Given the description of an element on the screen output the (x, y) to click on. 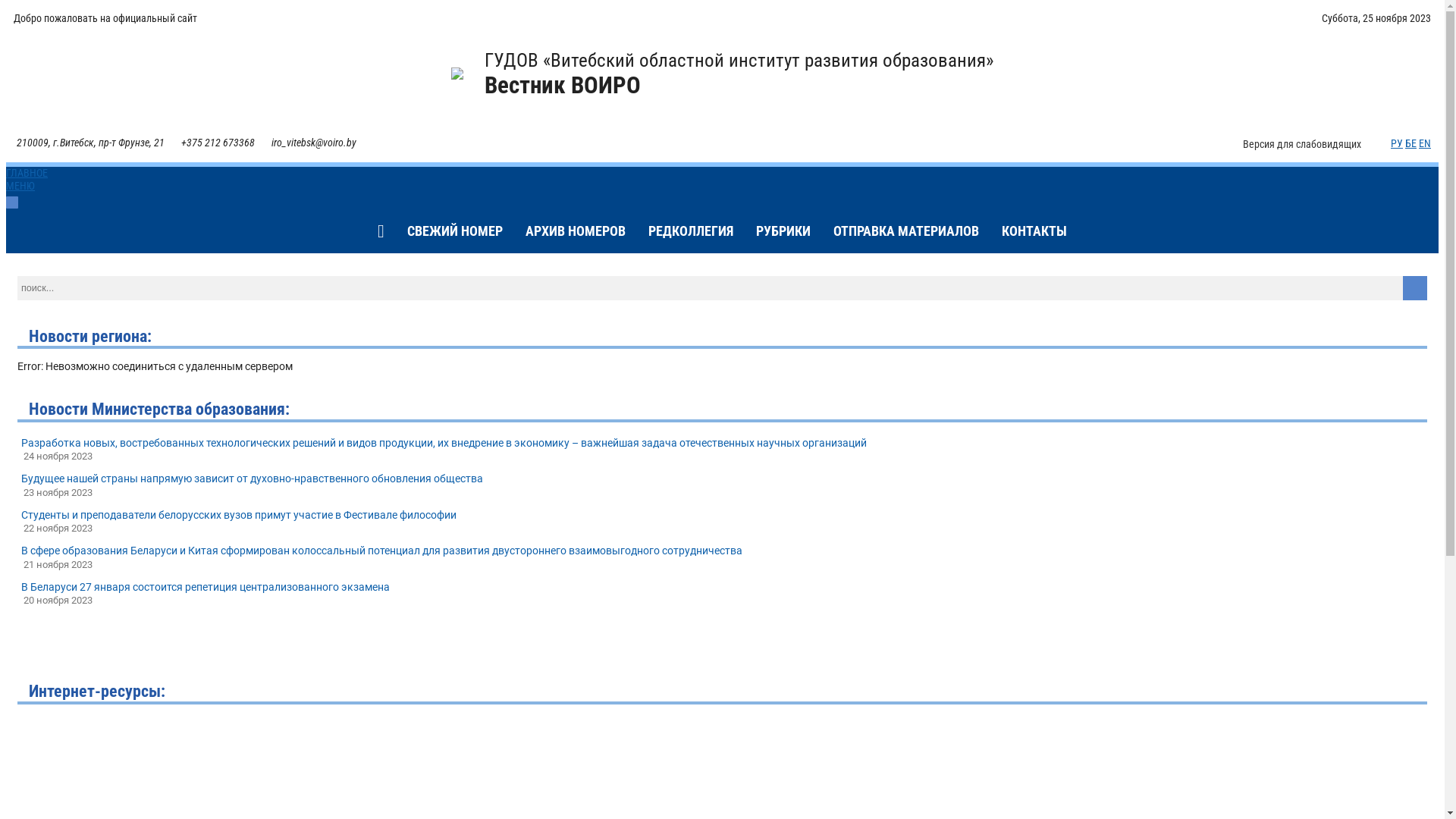
EN Element type: text (1424, 143)
